Given the description of an element on the screen output the (x, y) to click on. 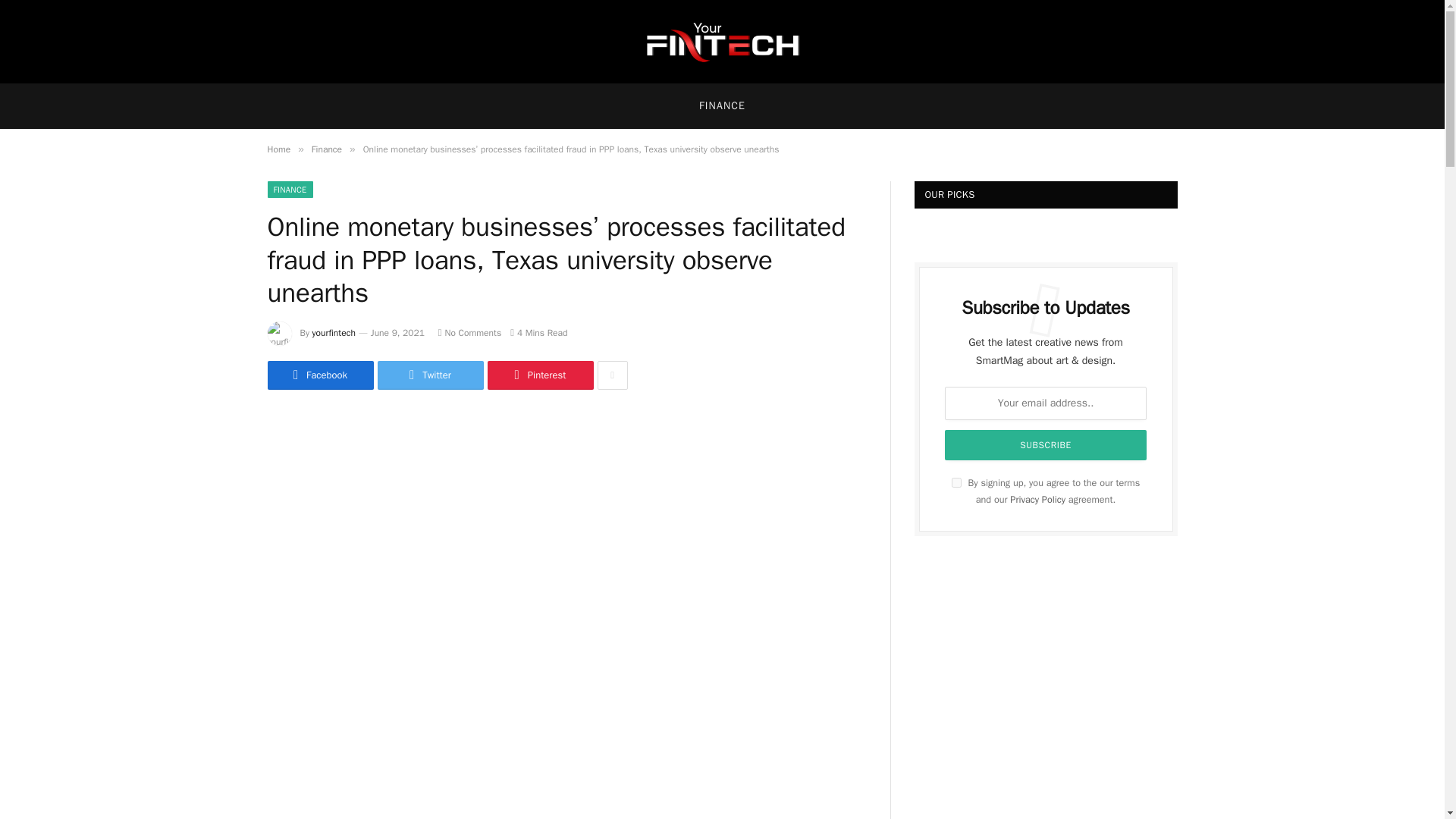
on (956, 482)
Posts by yourfintech (334, 332)
Subscribe (1045, 444)
Your Fintech (728, 41)
Share on Twitter (430, 375)
Show More Social Sharing (611, 375)
Share on Pinterest (539, 375)
Finance (326, 149)
Share on Facebook (319, 375)
FINANCE (721, 105)
Twitter (430, 375)
yourfintech (334, 332)
Pinterest (539, 375)
Facebook (319, 375)
Home (277, 149)
